Given the description of an element on the screen output the (x, y) to click on. 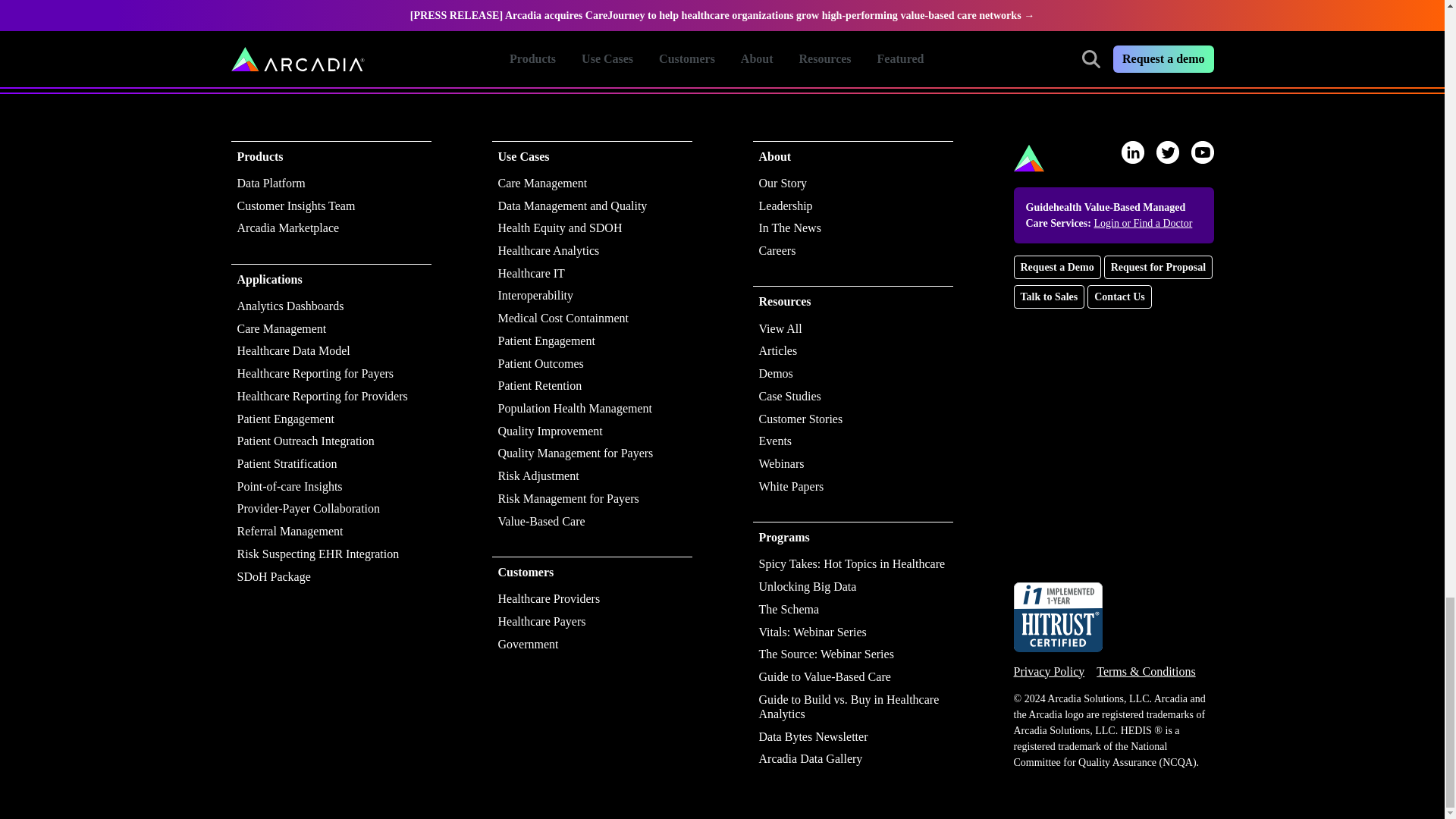
Arcadia (1028, 157)
Arcadia Analytics is HITRUST i1 Certification (1057, 615)
